Given the description of an element on the screen output the (x, y) to click on. 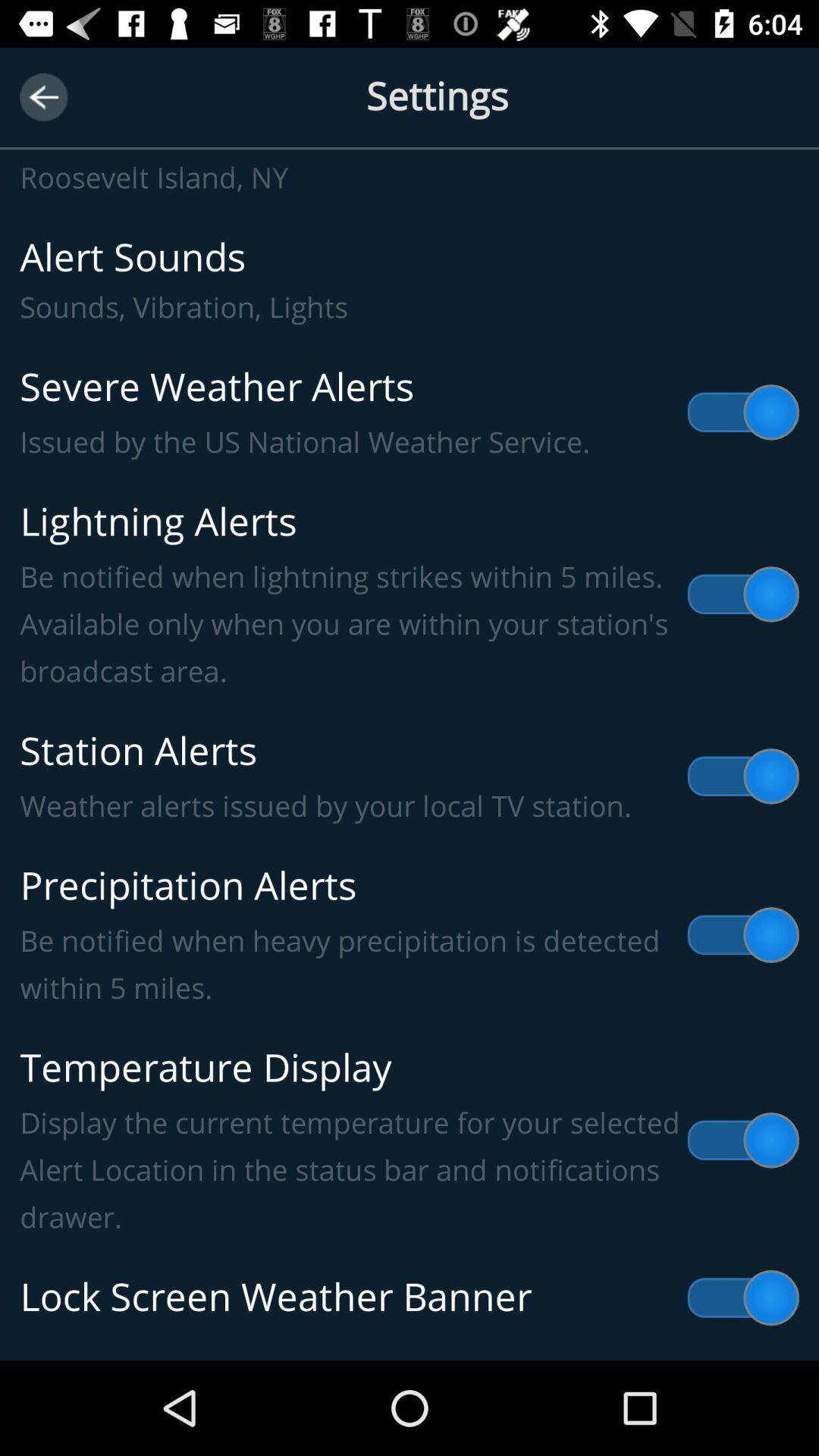
scroll until the lock screen weather icon (409, 1297)
